Given the description of an element on the screen output the (x, y) to click on. 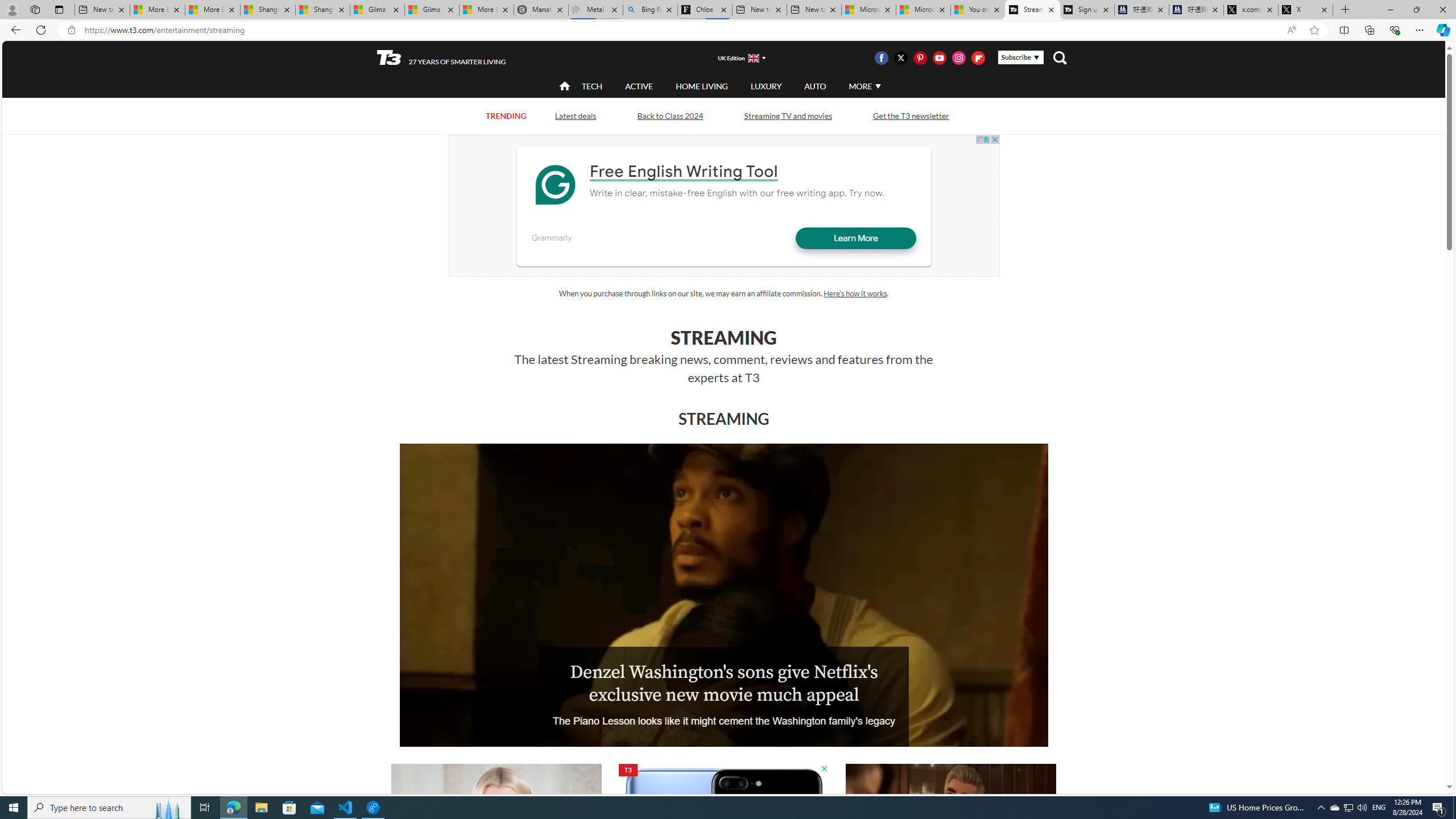
App bar (728, 29)
LUXURY (765, 85)
Class: navigation__item (563, 86)
Subscribe (1020, 56)
Visit us on Youtube (938, 57)
ACTIVE (638, 85)
Class: icon-svg (978, 57)
LUXURY (765, 86)
Streaming TV and movies (788, 115)
Visit us on Facebook (880, 57)
AUTO (815, 85)
Microsoft Start (923, 9)
Streaming TV and movies (788, 115)
